Given the description of an element on the screen output the (x, y) to click on. 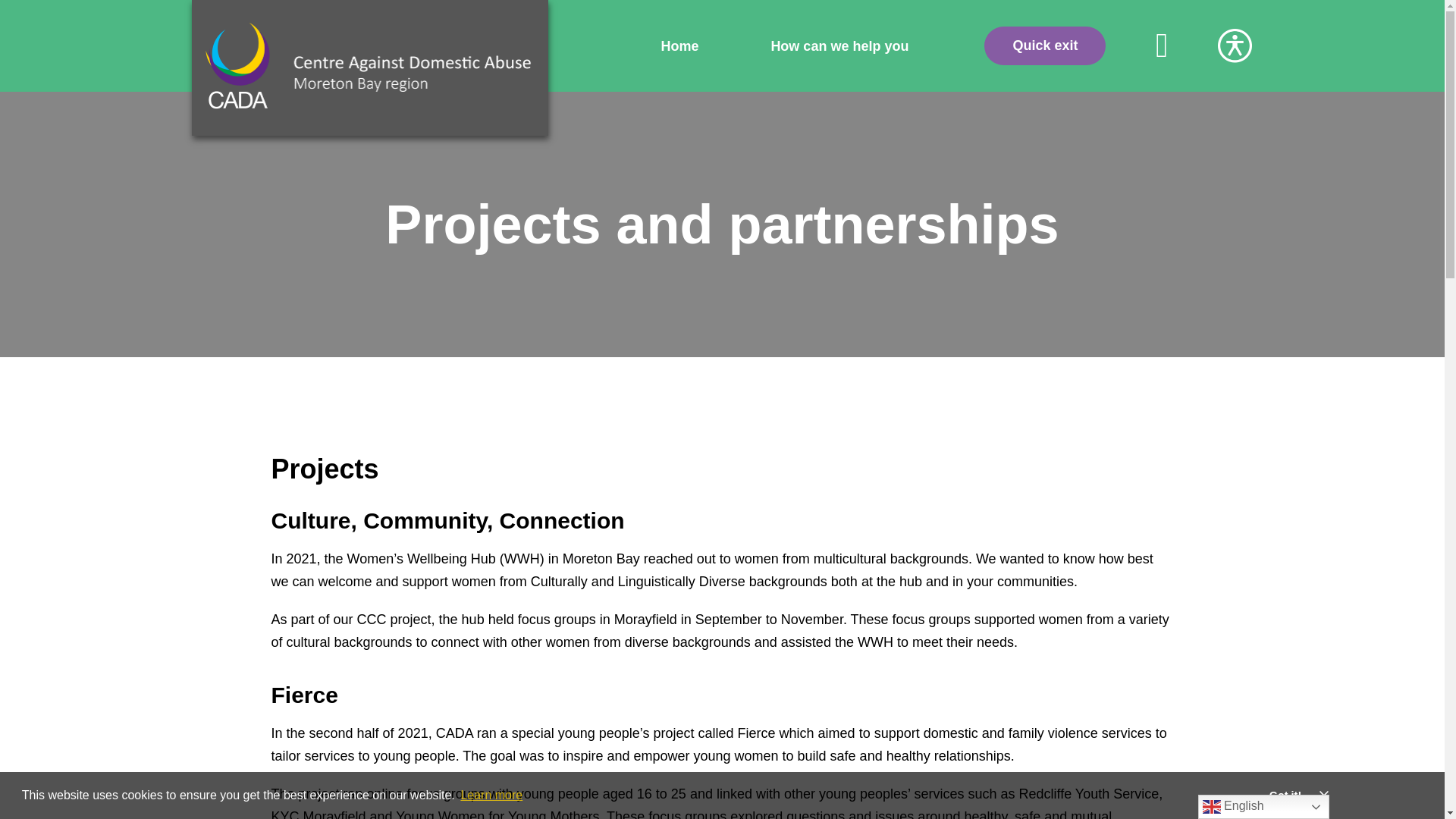
How can we help you (839, 45)
Learn more (491, 794)
Quick exit (1044, 45)
Home (679, 45)
Got it! (1285, 795)
